Given the description of an element on the screen output the (x, y) to click on. 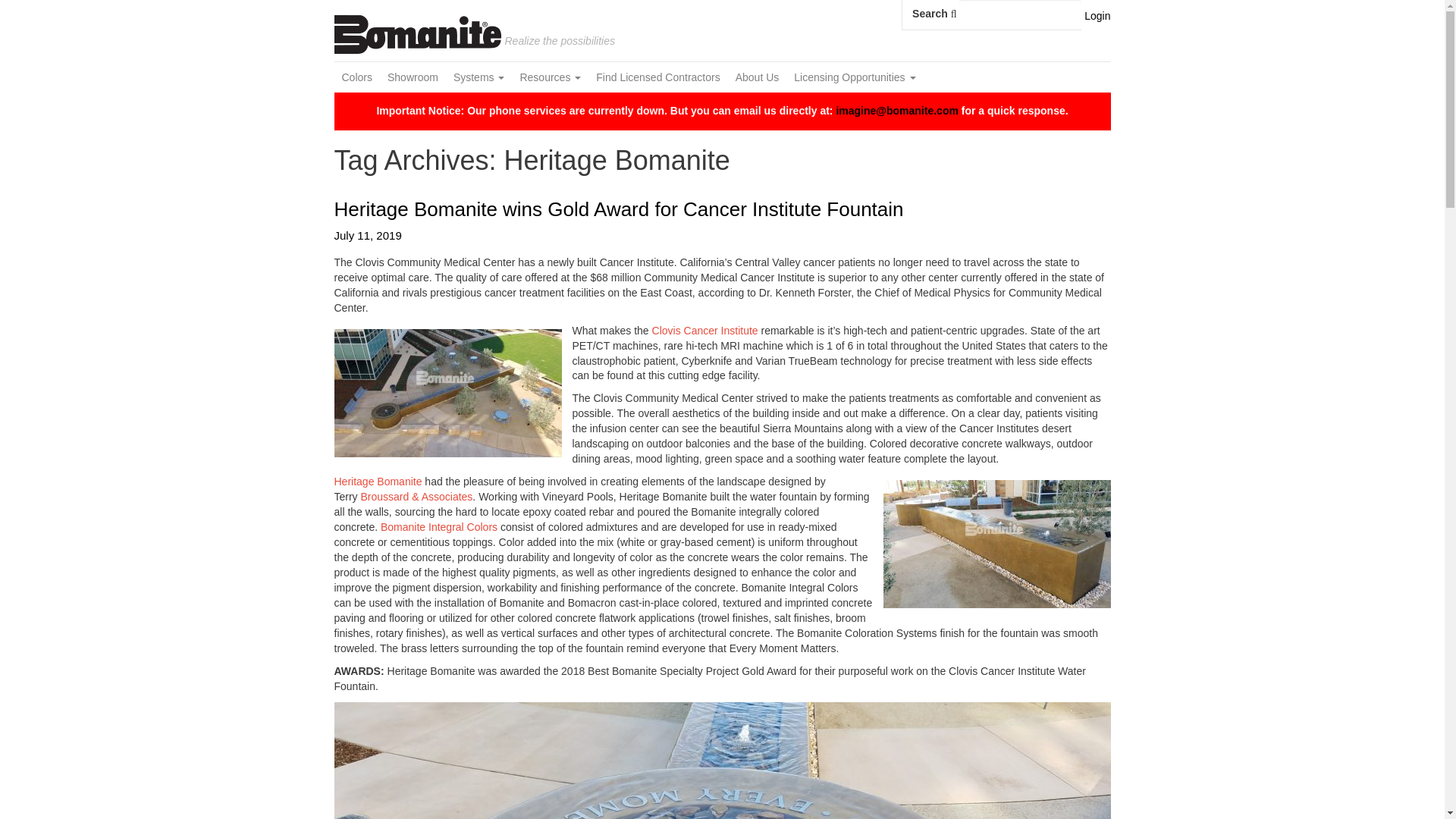
Systems (478, 77)
Colors (355, 77)
Login (1096, 15)
BOMANITE SHOWROOM (412, 77)
Showroom (412, 77)
